Given the description of an element on the screen output the (x, y) to click on. 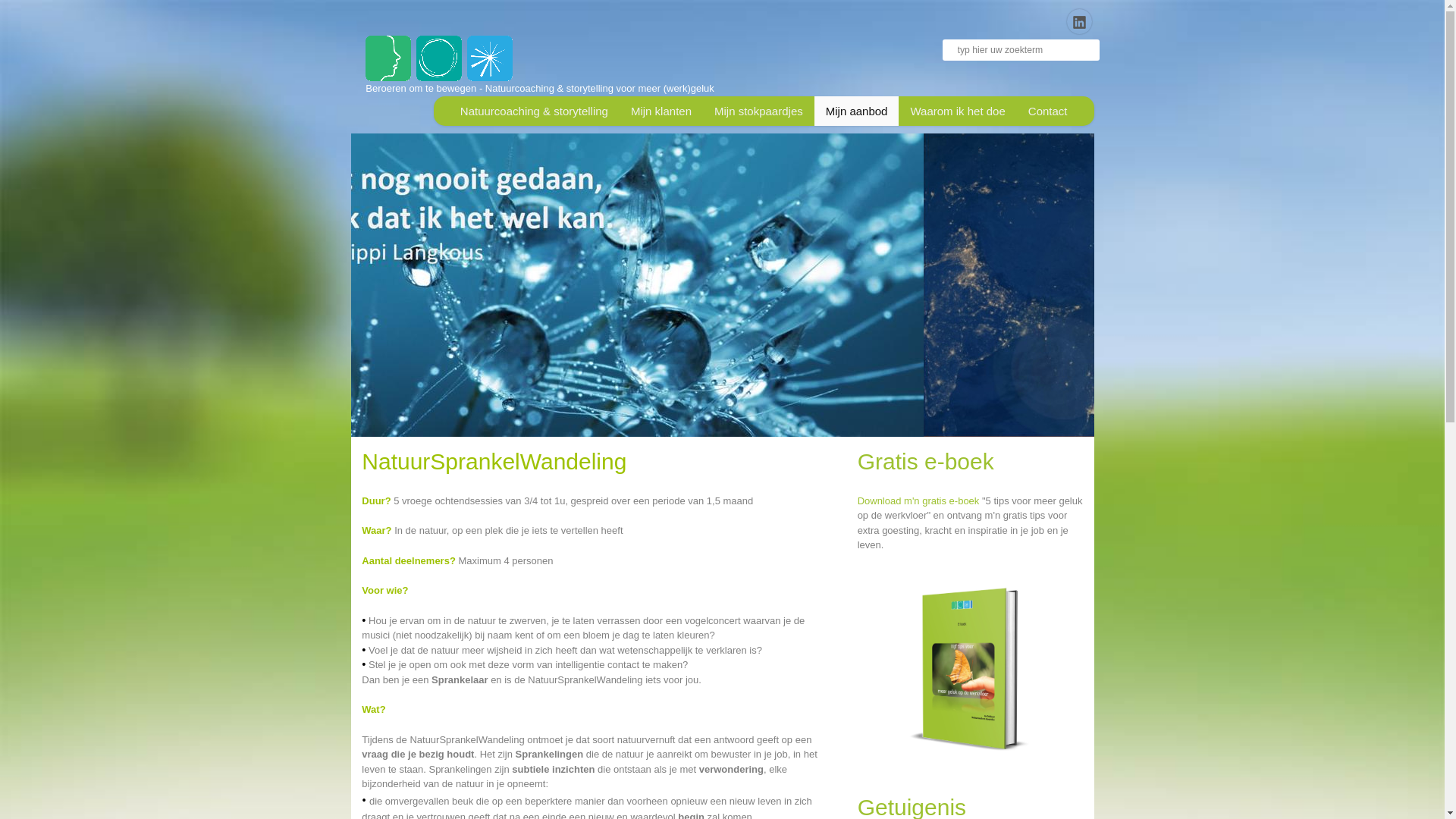
Contact Element type: text (1047, 110)
Mijn klanten Element type: text (660, 110)
e-boek Element type: hover (969, 670)
linkedin Element type: text (1078, 21)
Natuurcoaching & storytelling Element type: text (533, 110)
Veerkracht Element type: hover (932, 284)
Mijn aanbod Element type: text (856, 110)
Download m'n gratis e-boek Element type: text (919, 499)
Mijn stokpaardjes Element type: text (758, 110)
Waarom ik het doe Element type: text (957, 110)
An Debbaut Element type: text (438, 58)
